Given the description of an element on the screen output the (x, y) to click on. 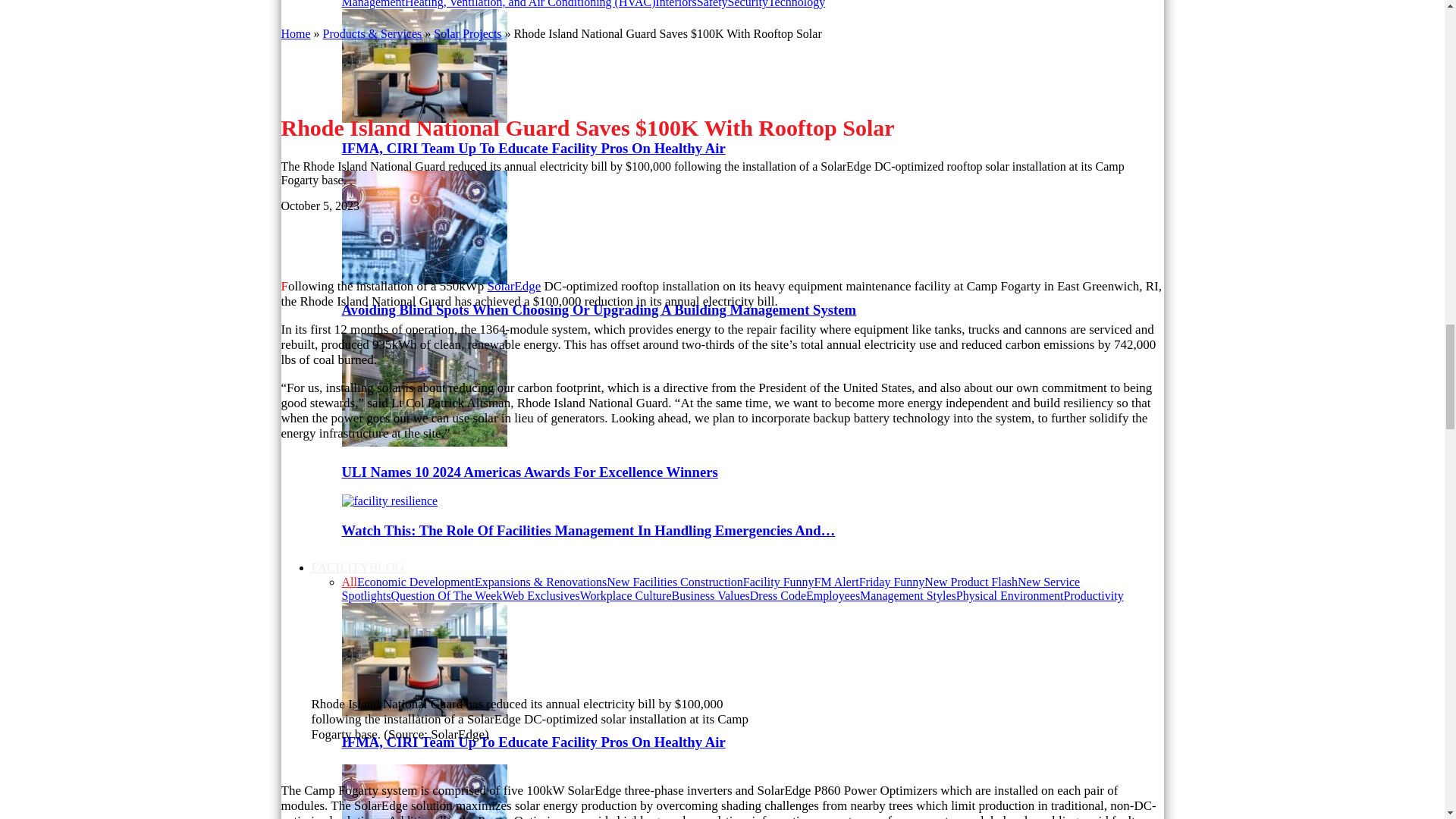
IFMA, CIRI Team Up To Educate Facility Pros On Healthy Air (423, 118)
IFMA, CIRI Team Up To Educate Facility Pros On Healthy Air (532, 148)
IFMA, CIRI Team Up To Educate Facility Pros On Healthy Air (423, 65)
